Given the description of an element on the screen output the (x, y) to click on. 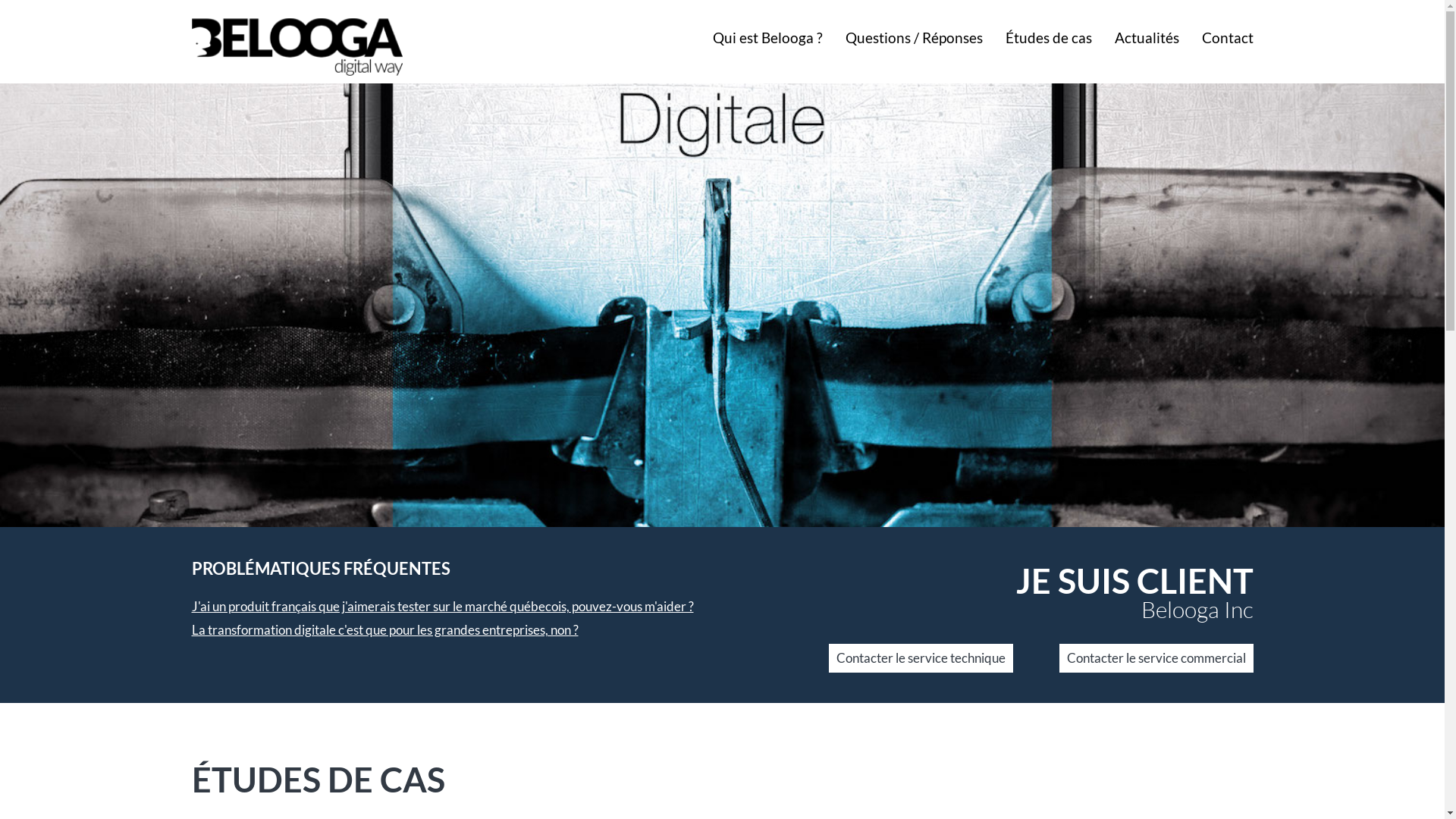
Contact Element type: text (1226, 37)
Contacter le service commercial Element type: text (1155, 657)
Qui est Belooga ? Element type: text (767, 37)
Contacter le service technique Element type: text (920, 657)
